Given the description of an element on the screen output the (x, y) to click on. 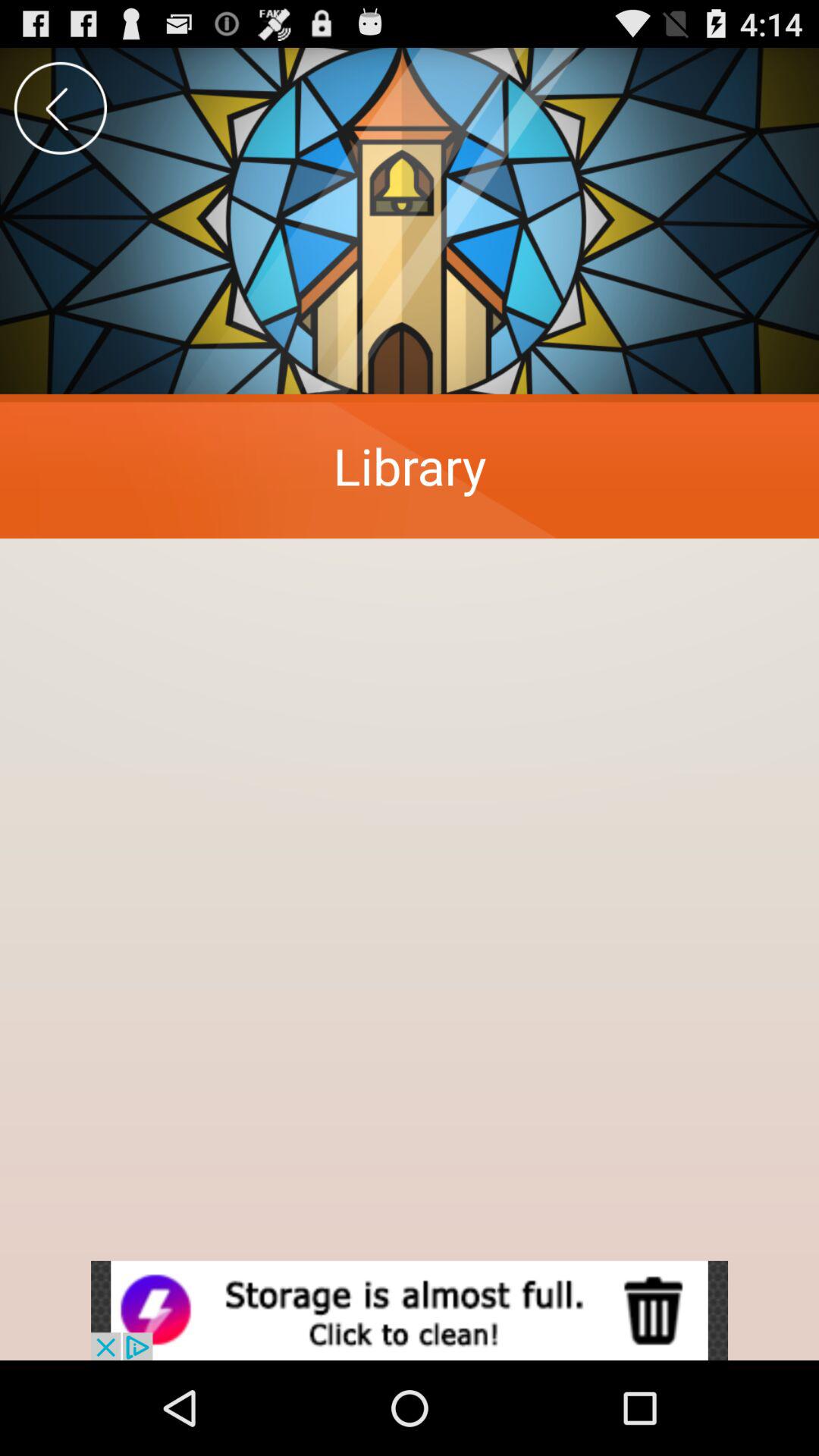
go back (60, 107)
